Given the description of an element on the screen output the (x, y) to click on. 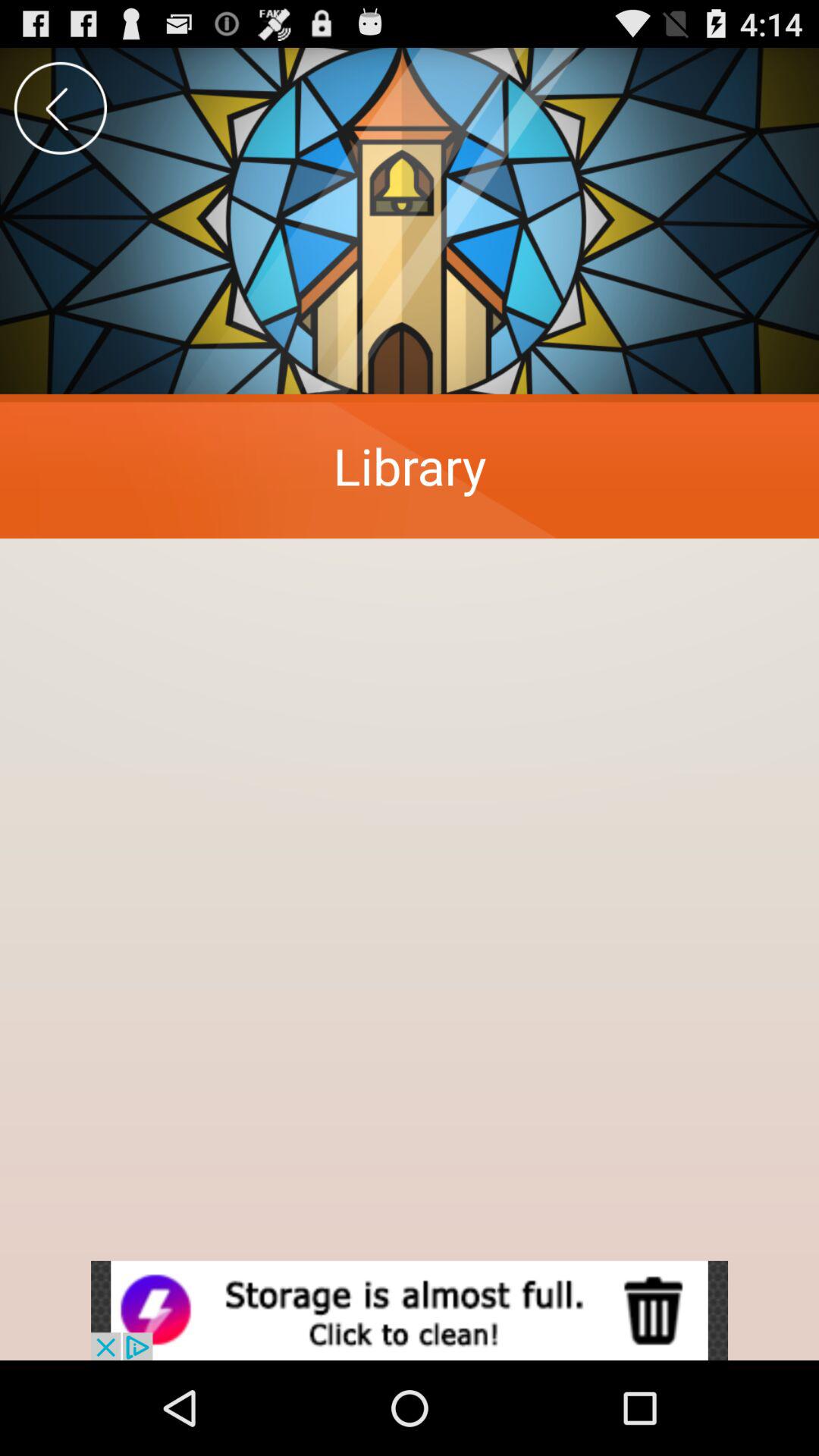
go back (60, 107)
